Given the description of an element on the screen output the (x, y) to click on. 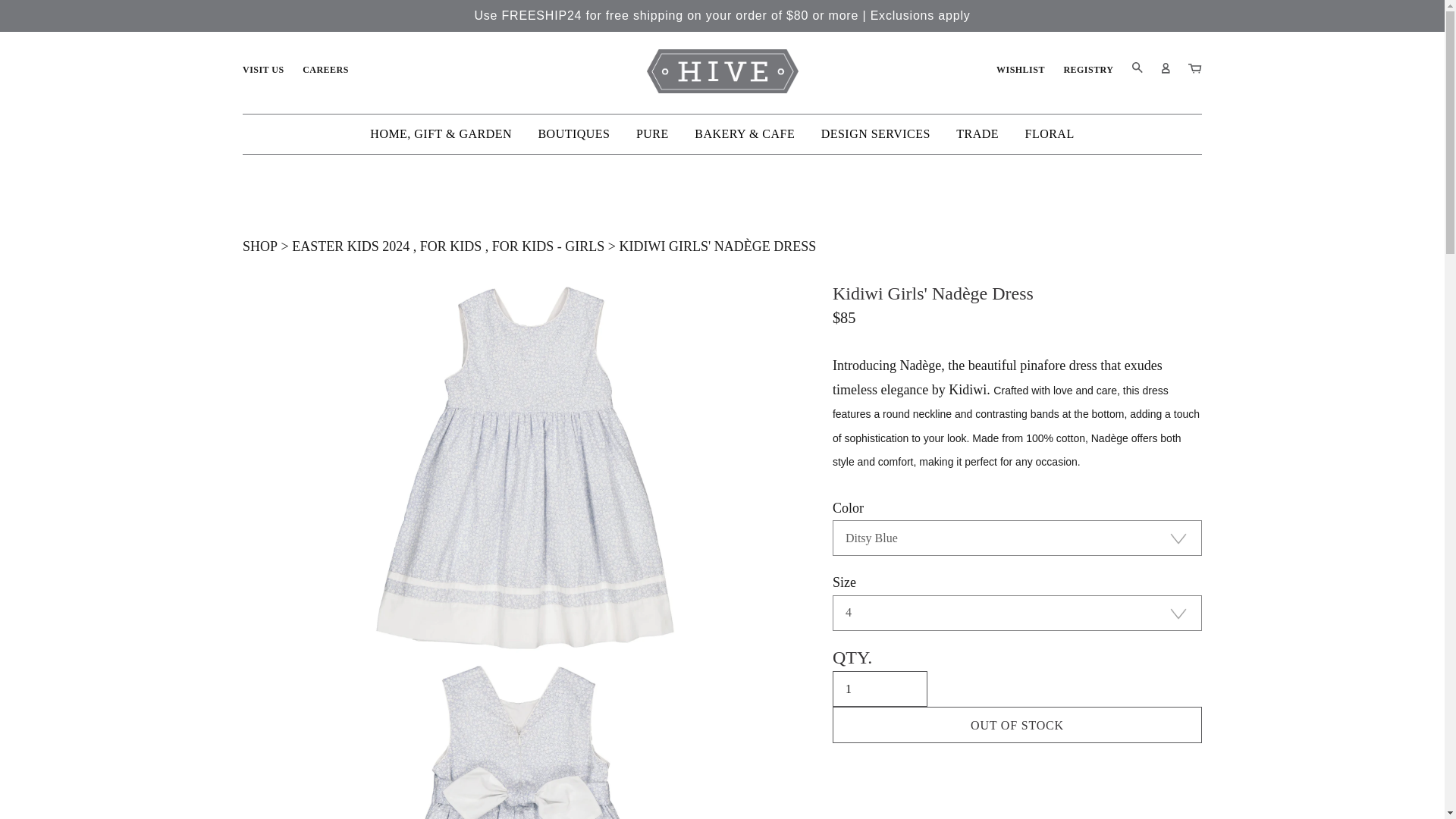
1 (879, 688)
FLORAL (1049, 133)
Group 3 (1158, 69)
WISHLIST (1020, 69)
VISIT US (263, 69)
BOUTIQUES (573, 133)
DESIGN SERVICES (875, 133)
Group 2 (1195, 68)
Group 2 (1187, 69)
TRADE (977, 133)
